Given the description of an element on the screen output the (x, y) to click on. 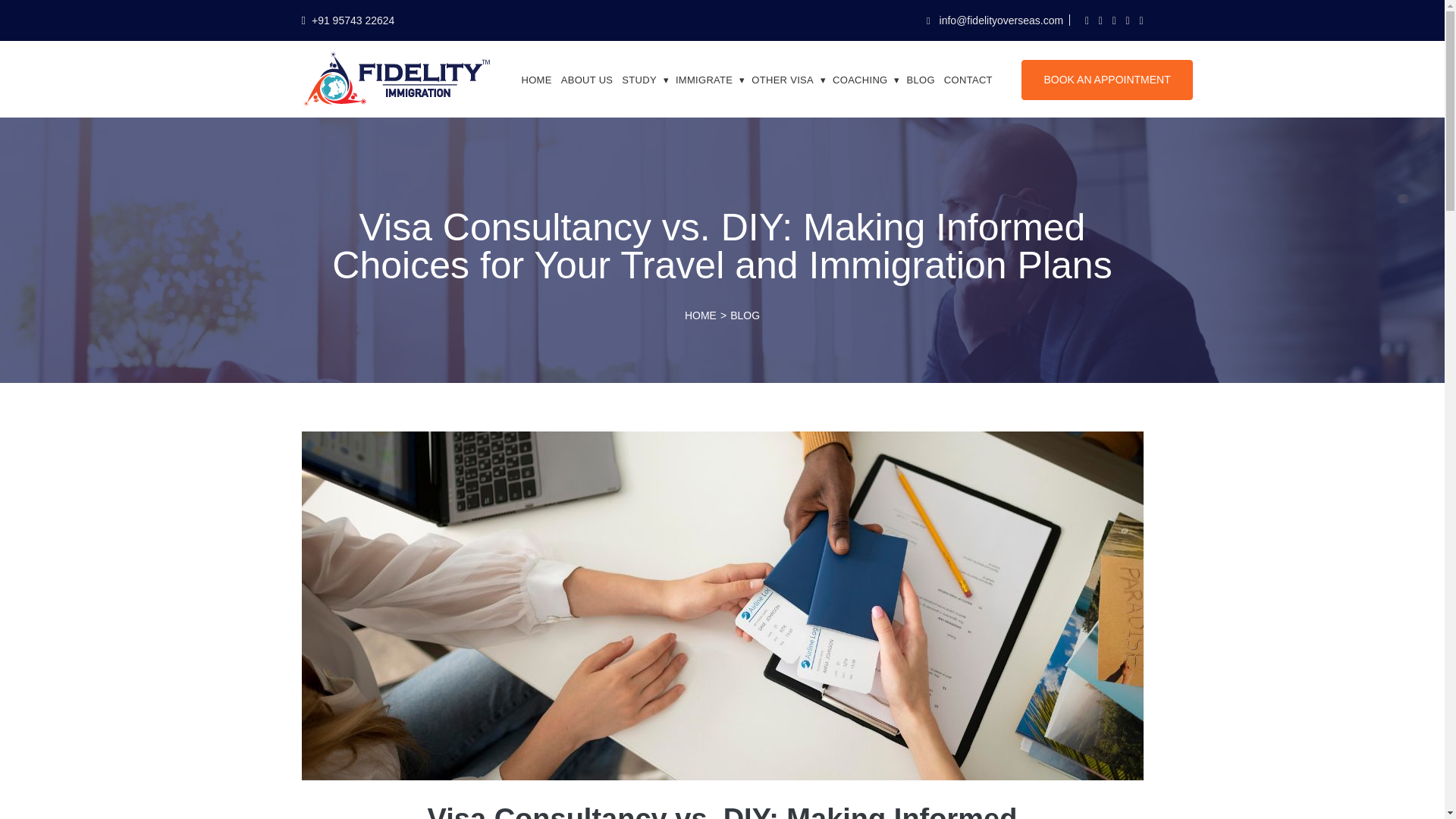
BOOK AN APPOINTMENT (1107, 79)
OTHER VISA (790, 78)
COACHING (866, 78)
logo (396, 78)
Visa (711, 78)
IMMIGRATE (711, 78)
